Given the description of an element on the screen output the (x, y) to click on. 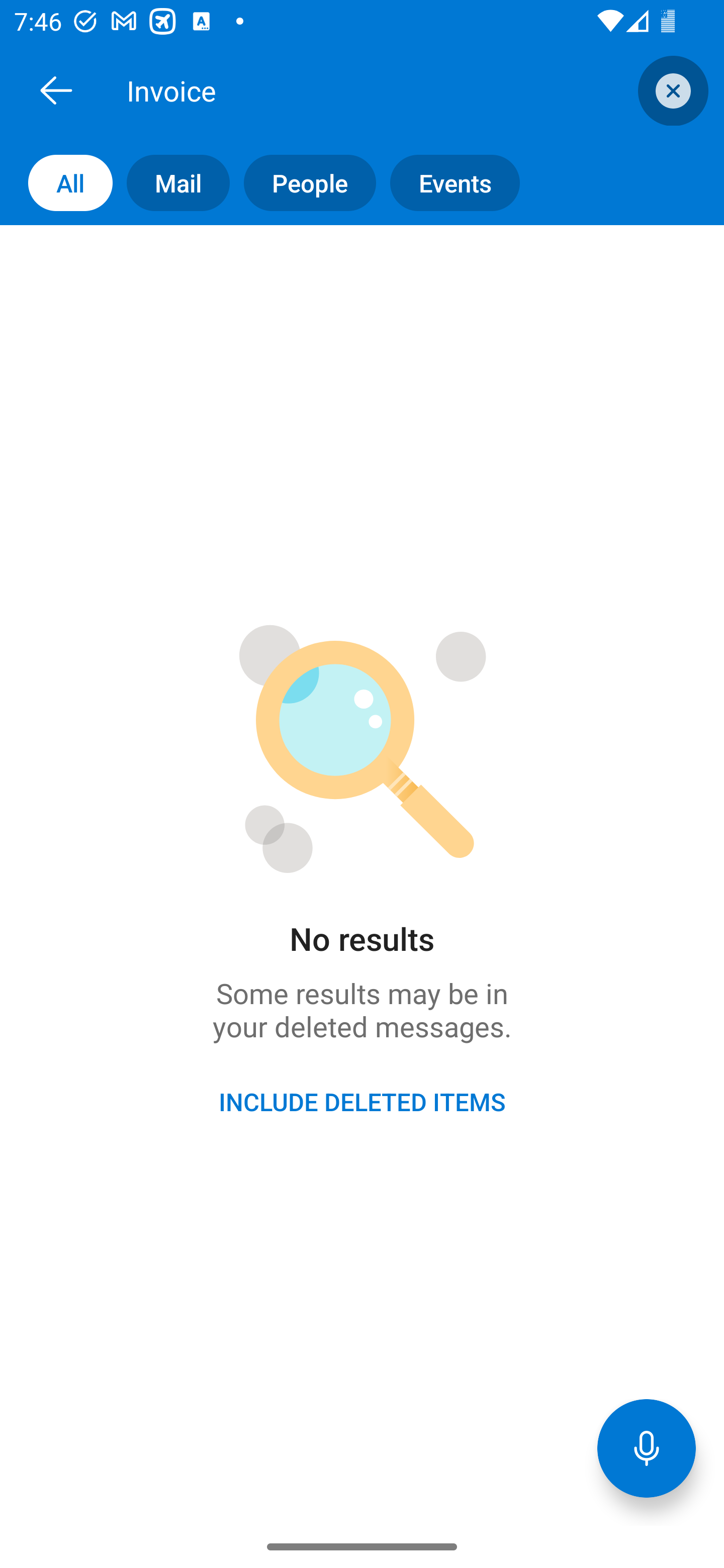
Back (55, 89)
Invoice (384, 89)
clear search (670, 90)
Mail (170, 183)
People (302, 183)
Events (447, 183)
INCLUDE DELETED ITEMS (362, 1101)
Voice Assistant (646, 1447)
